Given the description of an element on the screen output the (x, y) to click on. 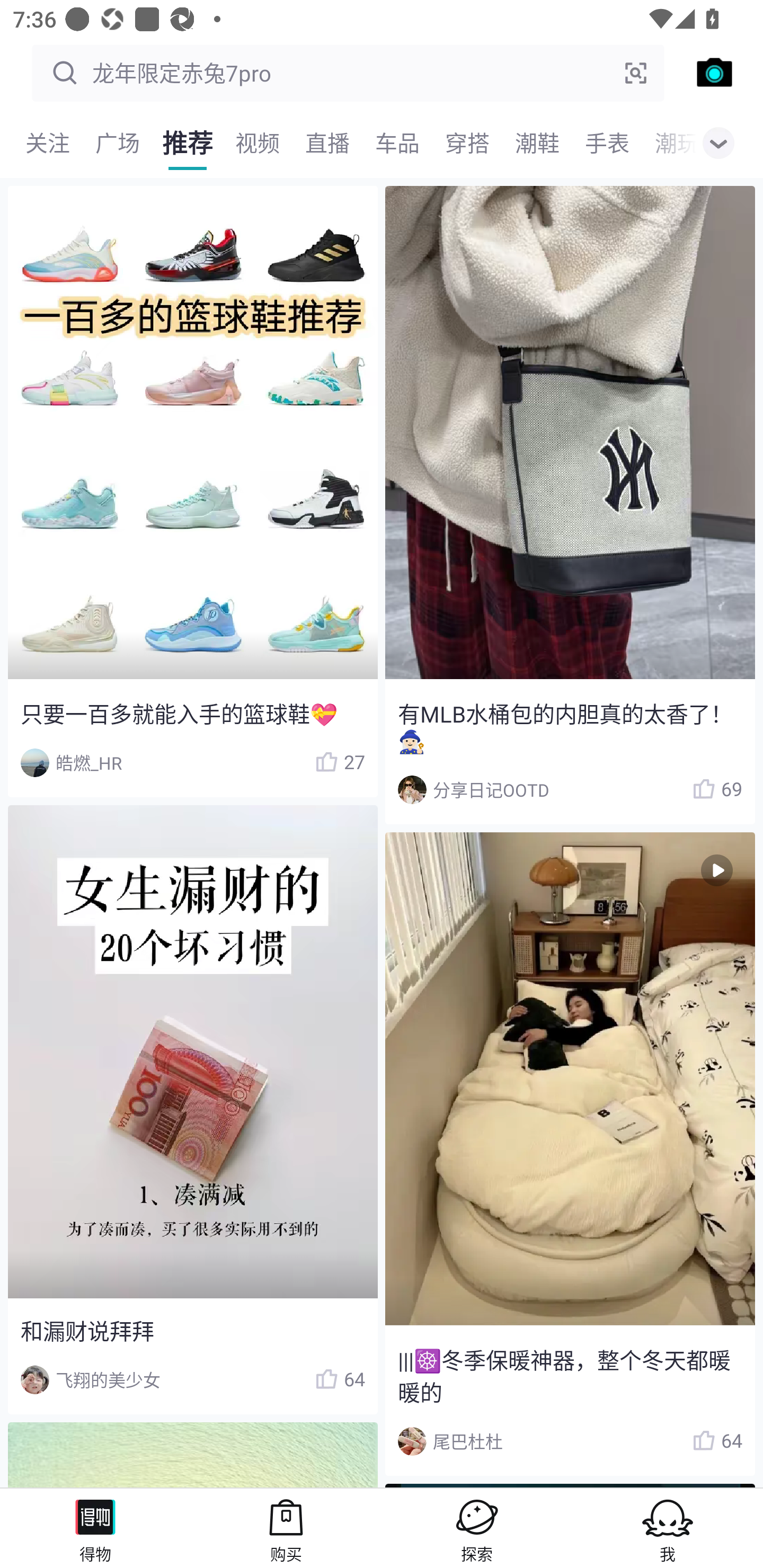
龙年限定赤兔7pro (348, 72)
关注 (47, 143)
广场 (117, 143)
推荐 (187, 143)
视频 (257, 143)
直播 (327, 143)
车品 (397, 143)
穿搭 (467, 143)
潮鞋 (537, 143)
手表 (607, 143)
只要一百多就能入手的篮球鞋💝 皓燃_HR 27 (192, 491)
有MLB水桶包的内胆真的太香了！🧙🏻‍♀️ 分享日记OOTD 69 (570, 505)
和漏财说拜拜 飞翔的美少女 64 (192, 1109)
|||☸️冬季保暖神器，整个冬天都暖暖的 尾巴杜杜 64 (570, 1153)
得物 (95, 1528)
购买 (285, 1528)
探索 (476, 1528)
我 (667, 1528)
